Given the description of an element on the screen output the (x, y) to click on. 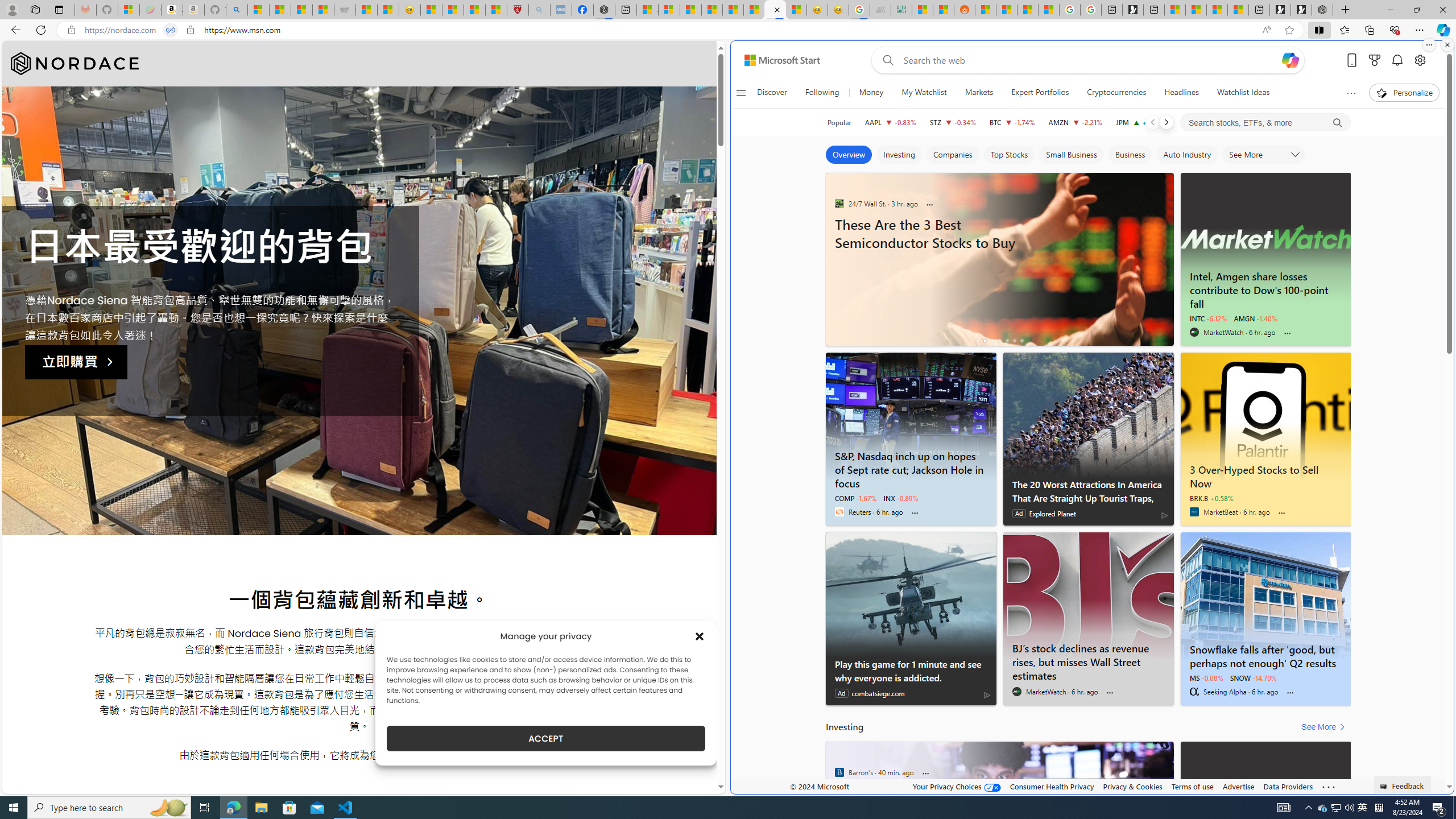
BTC Bitcoin decrease 60,359.26 -1,049.65 -1.74% (1012, 122)
My Watchlist (924, 92)
Class: button-glyph (740, 92)
Previous (1151, 122)
